Given the description of an element on the screen output the (x, y) to click on. 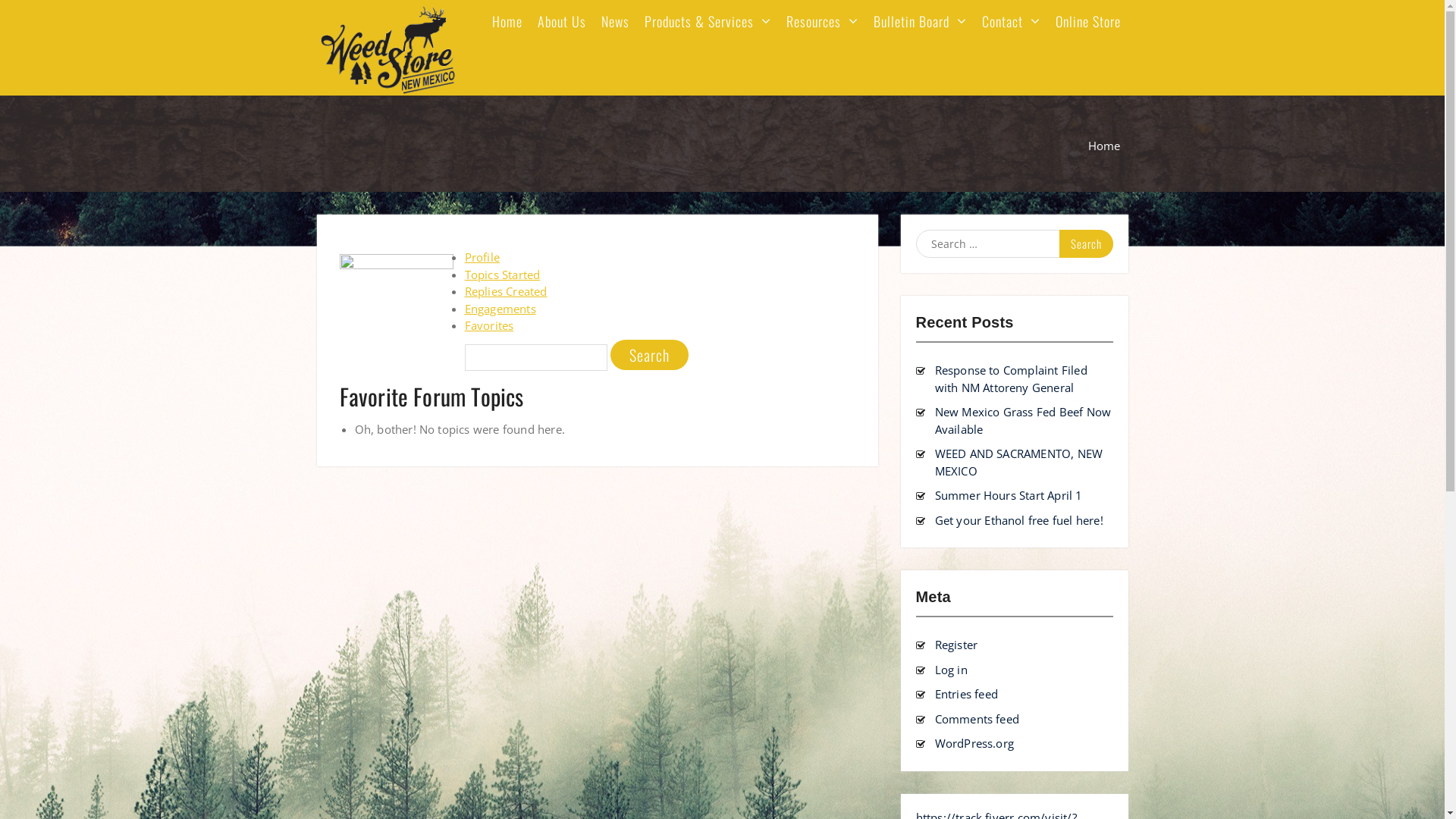
Get your Ethanol free fuel here! Element type: text (1018, 519)
Products & Services Element type: text (707, 25)
Entries feed Element type: text (965, 693)
Home Element type: text (1104, 145)
Log in Element type: text (950, 669)
News Element type: text (614, 25)
Register Element type: text (955, 644)
Response to Complaint Filed with NM Attoreny General Element type: text (1010, 378)
Topics Started Element type: text (501, 274)
Engagements Element type: text (499, 308)
WEED AND SACRAMENTO, NEW MEXICO Element type: text (1018, 461)
Replies Created Element type: text (505, 290)
WordPress.org Element type: text (973, 742)
Comments feed Element type: text (976, 718)
About Us Element type: text (560, 25)
Search Element type: text (1085, 243)
Favorites Element type: text (488, 324)
Search Element type: text (649, 354)
Online Store Element type: text (1087, 25)
Contact Element type: text (1010, 25)
Bulletin Board Element type: text (919, 25)
New Mexico Grass Fed Beef Now Available Element type: text (1022, 420)
Home Element type: text (506, 25)
Summer Hours Start April 1 Element type: text (1008, 494)
Profile Element type: text (481, 256)
Resources Element type: text (821, 25)
